Given the description of an element on the screen output the (x, y) to click on. 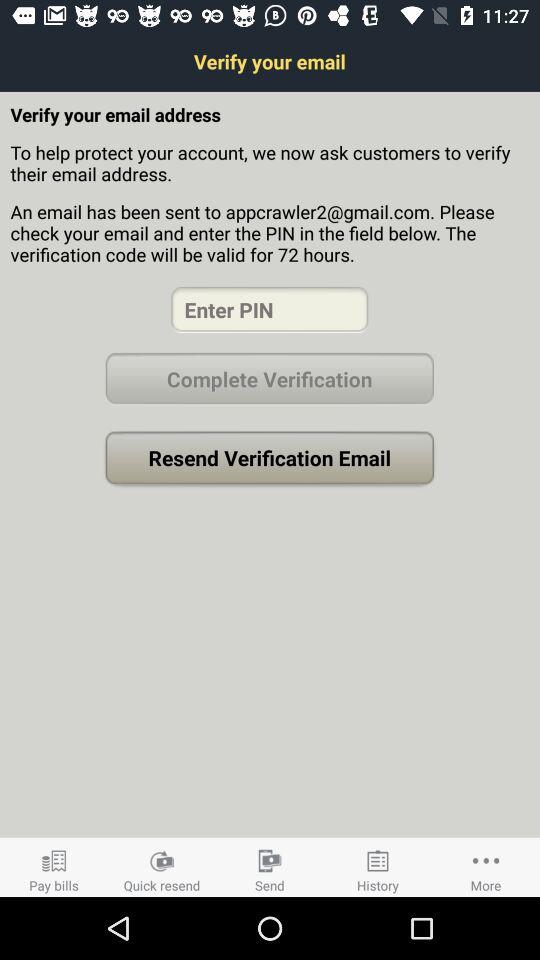
launch the button above resend verification email (269, 378)
